Given the description of an element on the screen output the (x, y) to click on. 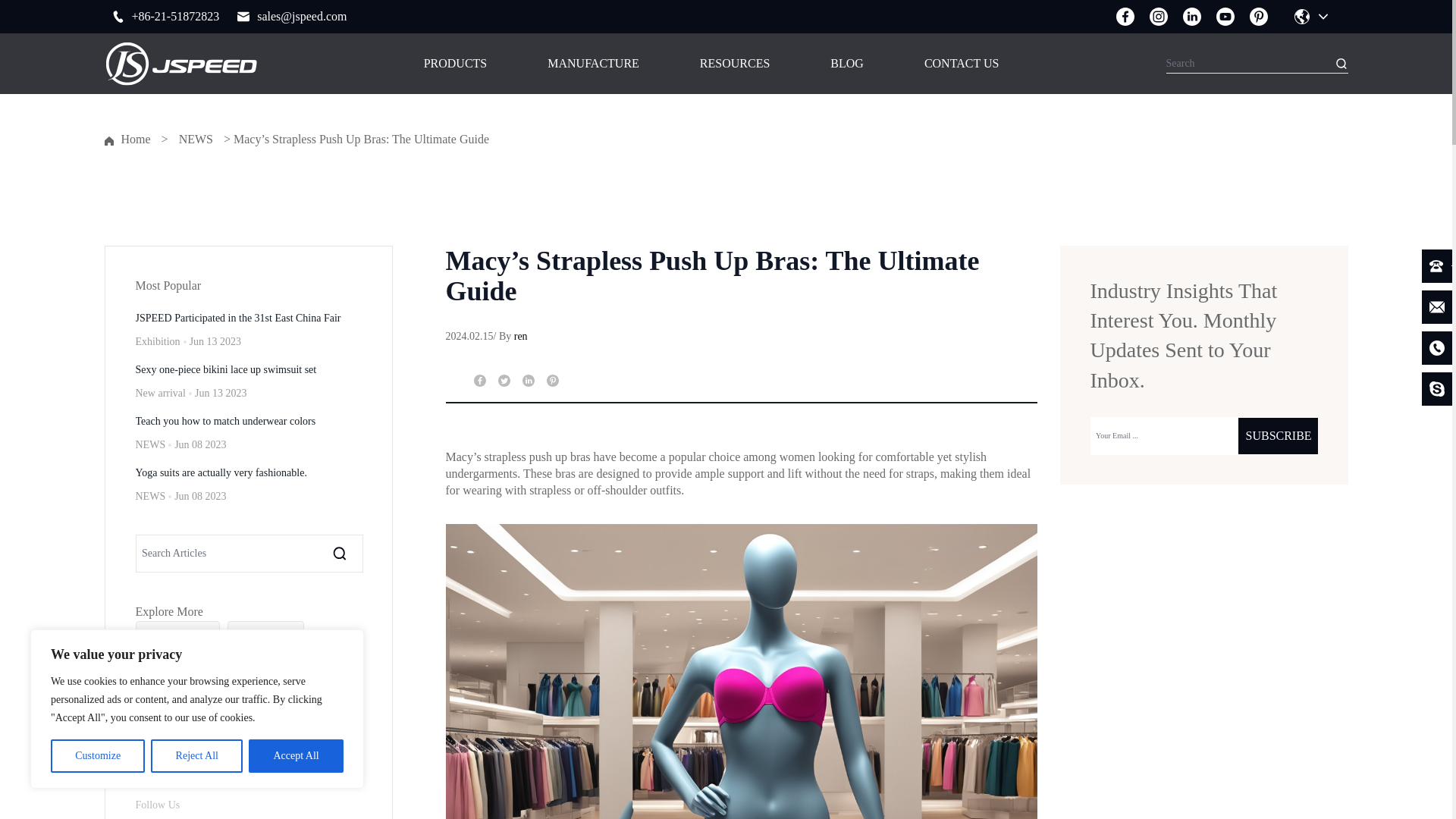
SUBSCRIBE (1277, 435)
PRODUCTS (455, 63)
Customize (97, 756)
Accept All (295, 756)
Reject All (197, 756)
MANUFACTURE (593, 63)
